Given the description of an element on the screen output the (x, y) to click on. 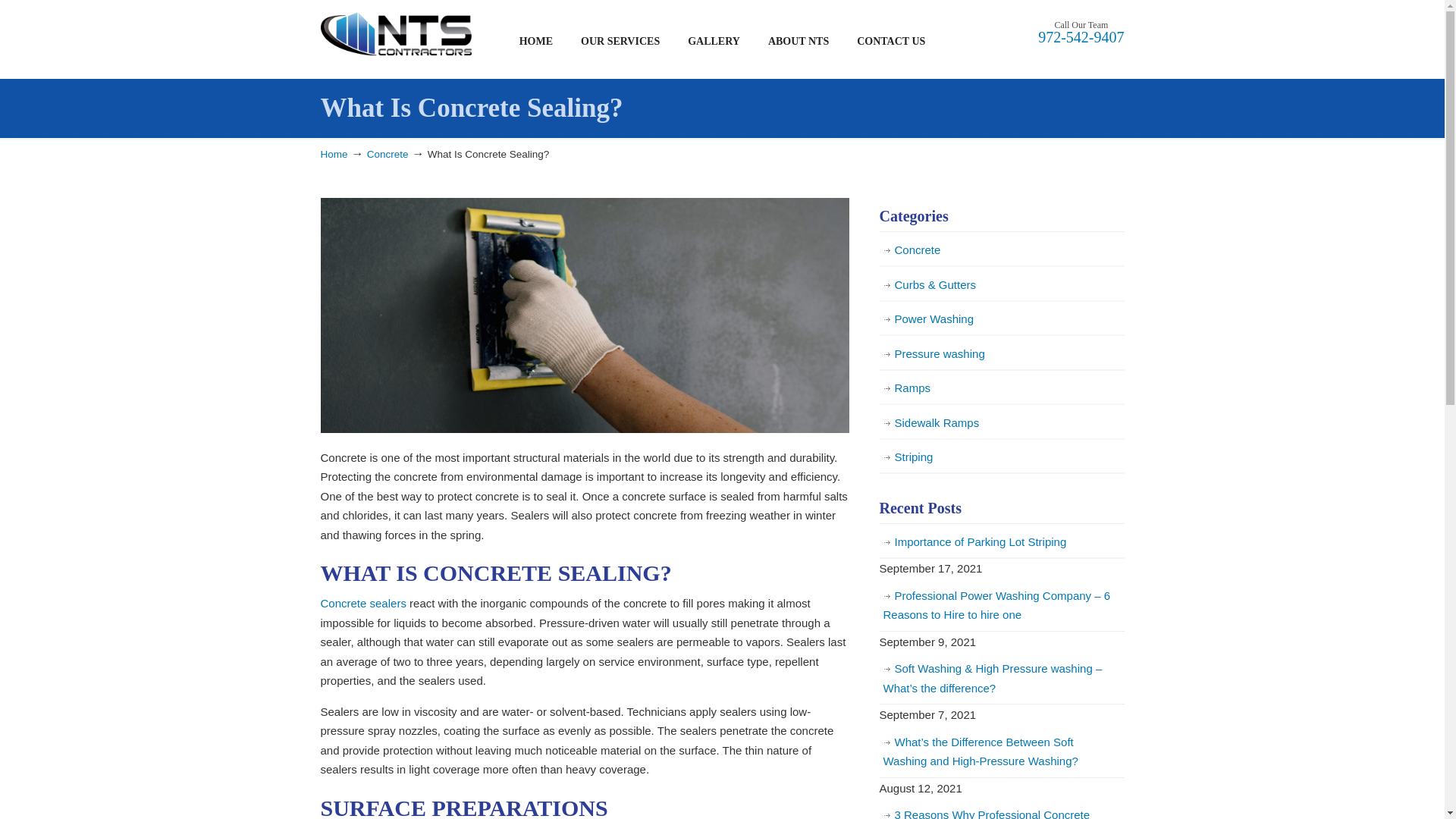
OUR SERVICES (620, 41)
NTS Contractors (395, 34)
Striping (1001, 457)
NTS Contractors (395, 34)
Power Washing (1001, 319)
HOME (535, 41)
Concrete (387, 153)
Home (333, 153)
Sidewalk Ramps (1001, 422)
GALLERY (713, 41)
Concrete sealers (363, 603)
Pressure washing (1001, 353)
Ramps (1001, 388)
Importance of Parking Lot Striping (1001, 541)
